Given the description of an element on the screen output the (x, y) to click on. 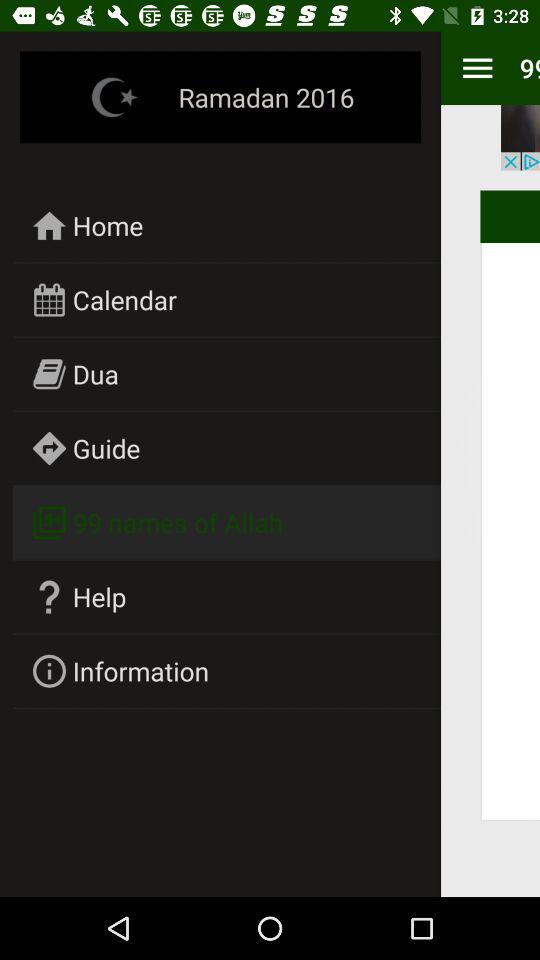
launch item below help item (141, 670)
